Given the description of an element on the screen output the (x, y) to click on. 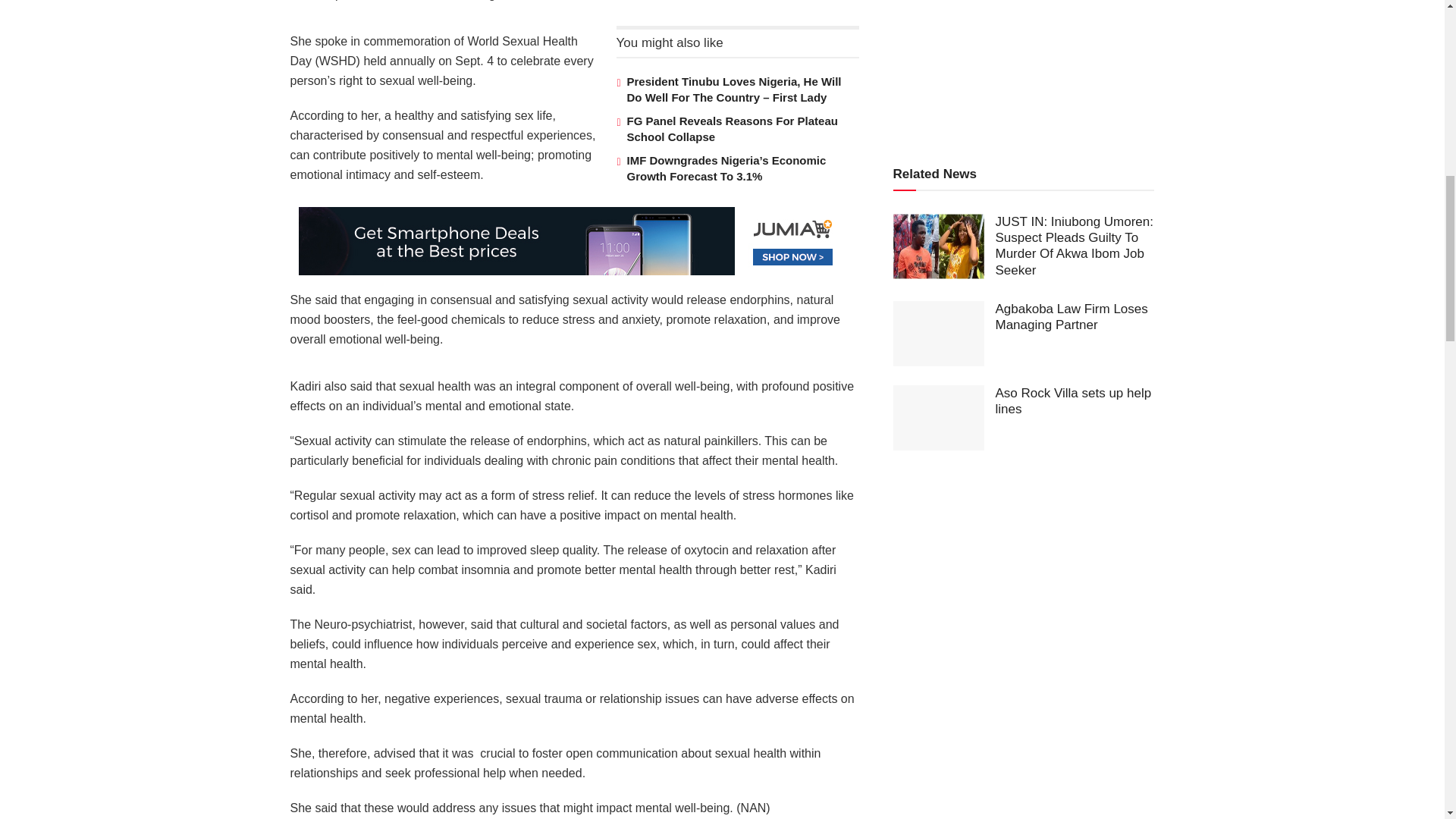
Advertisement (1031, 63)
